Given the description of an element on the screen output the (x, y) to click on. 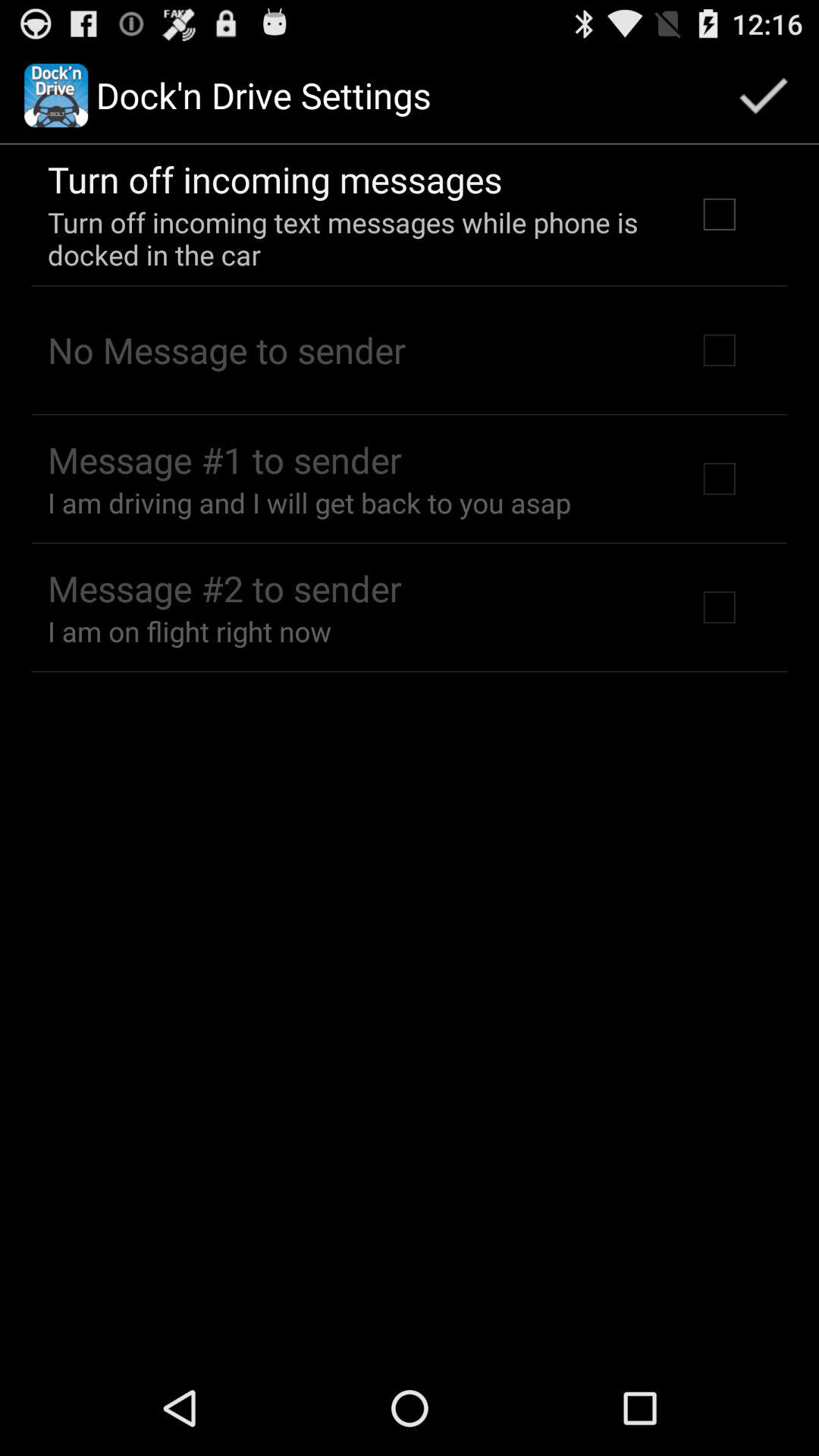
press icon next to turn off incoming app (763, 95)
